Given the description of an element on the screen output the (x, y) to click on. 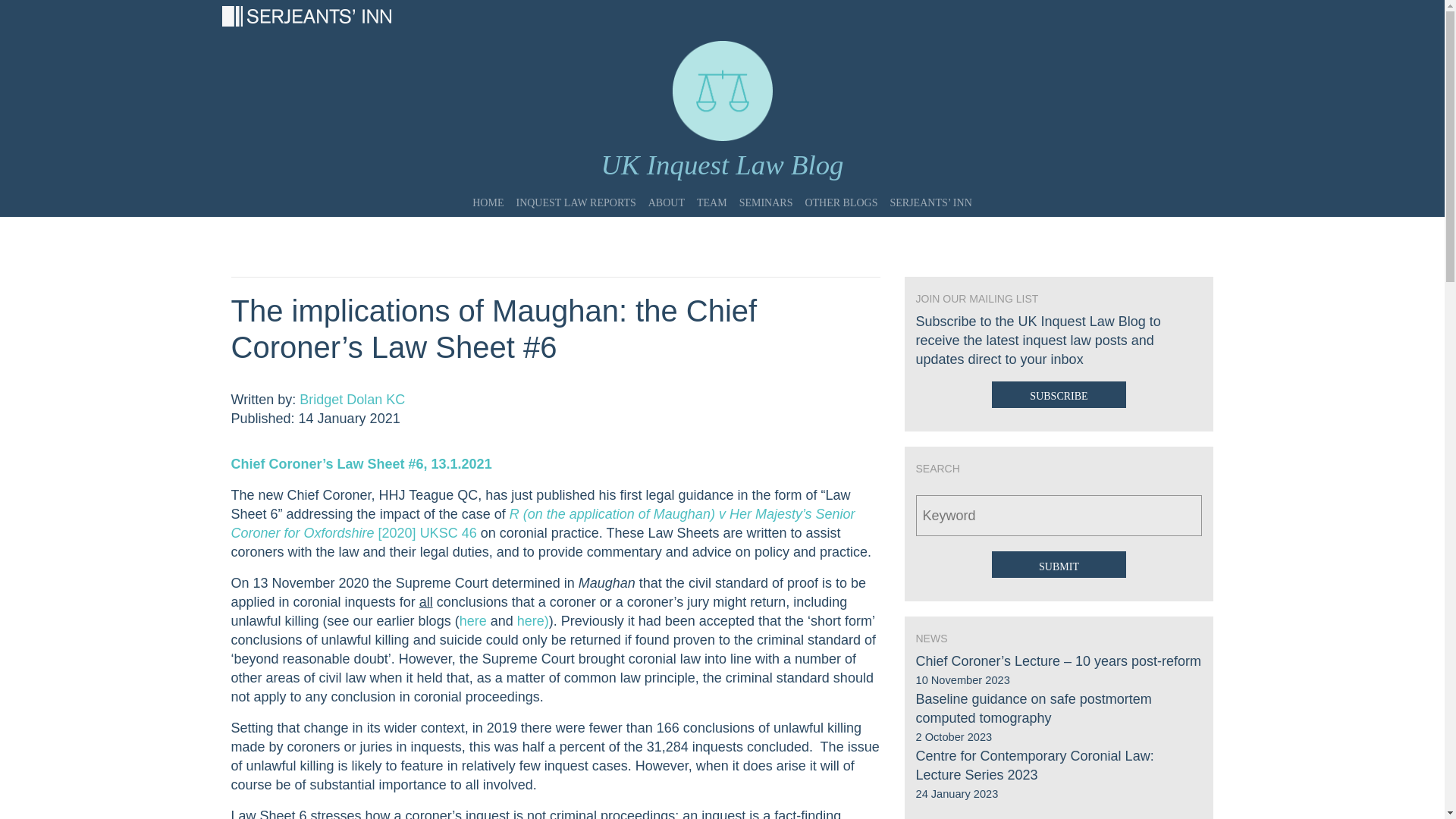
Subscribe (1058, 394)
Submit (1058, 564)
Baseline guidance on safe postmortem computed tomography (1033, 708)
Centre for Contemporary Coronial Law: Lecture Series 2023 (1034, 765)
Seminars (766, 197)
Inquest Law Reports (575, 197)
UK Inquest Law Blog (722, 164)
About (666, 197)
Seminars (766, 197)
Subscribe (1058, 394)
